Given the description of an element on the screen output the (x, y) to click on. 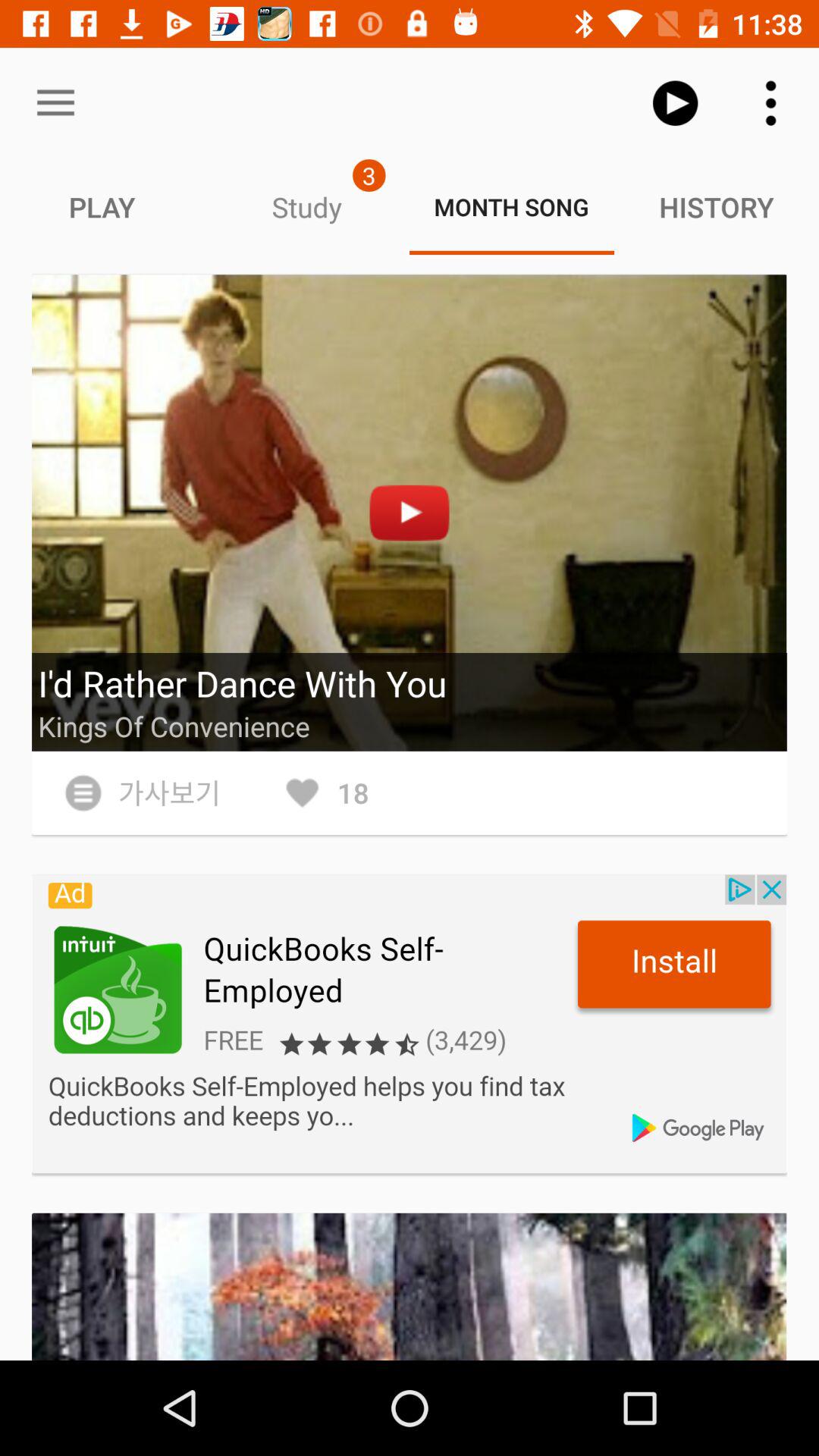
install app (409, 1023)
